Given the description of an element on the screen output the (x, y) to click on. 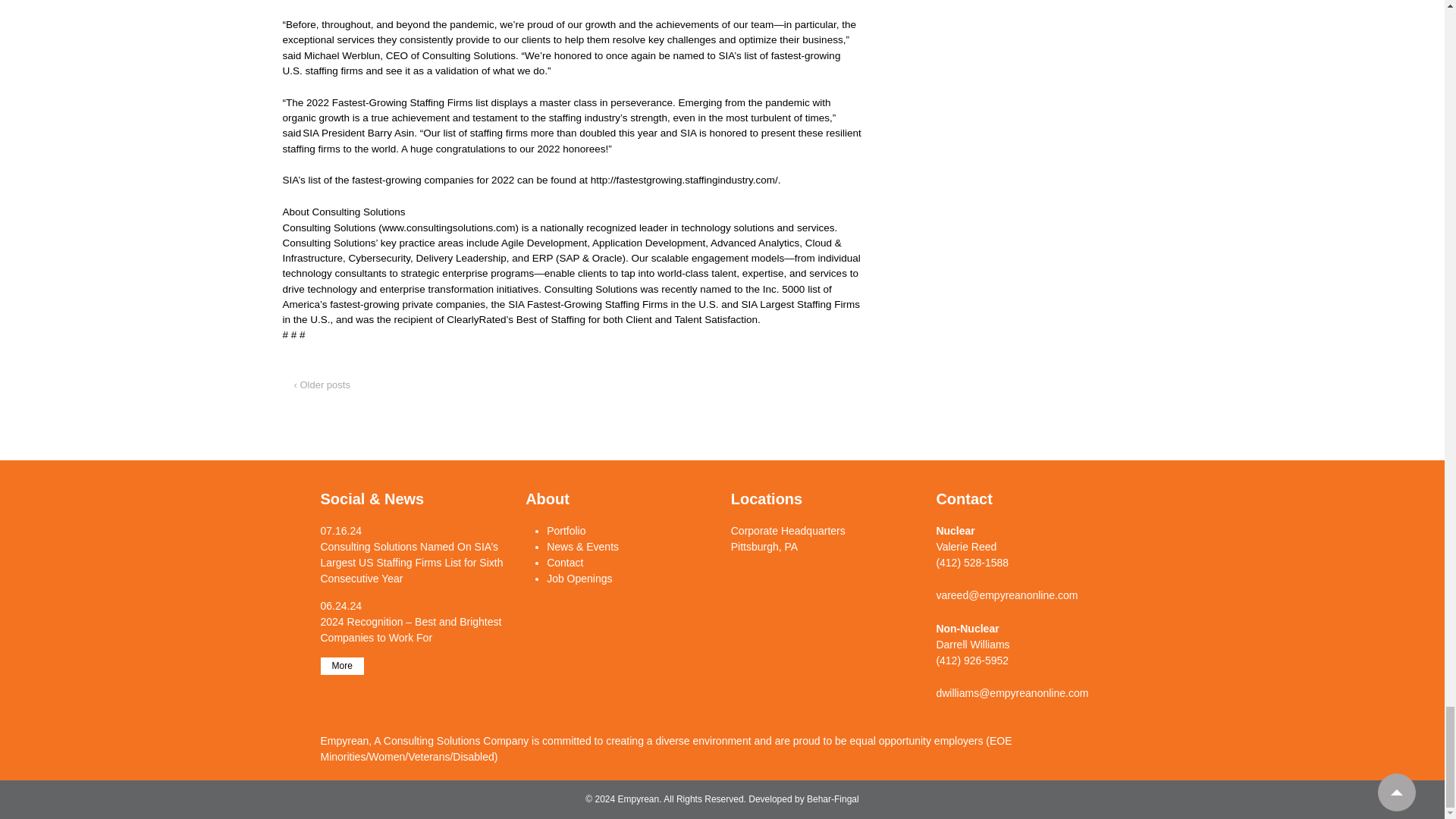
Empyrean (637, 798)
